Given the description of an element on the screen output the (x, y) to click on. 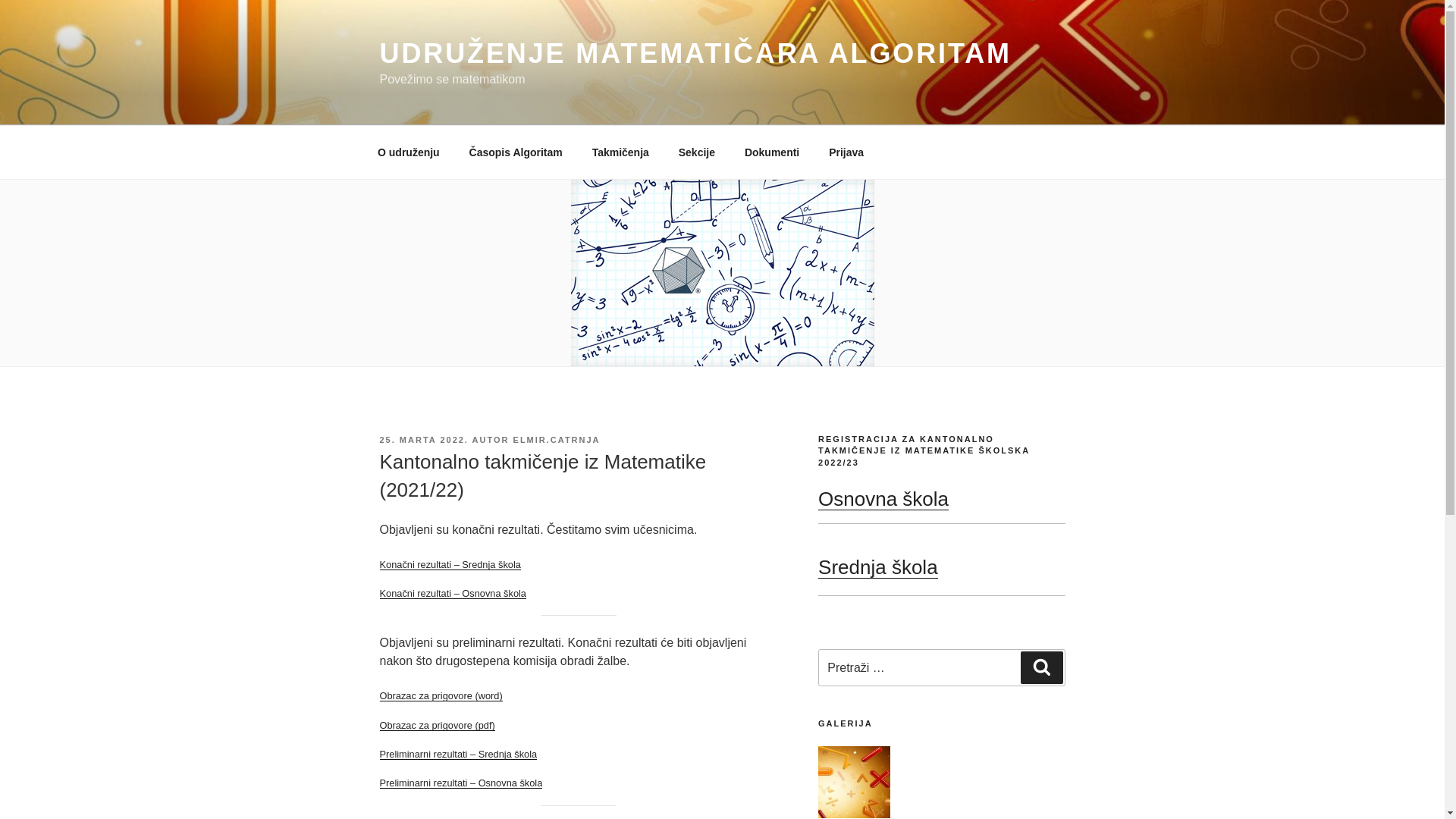
Sekcije Element type: text (696, 151)
Prijava Element type: text (846, 151)
Obrazac za prigovore (pdf) Element type: text (436, 725)
Dokumenti Element type: text (771, 151)
Obrazac za prigovore (word) Element type: text (440, 695)
25. MARTA 2022. Element type: text (423, 439)
ELMIR.CATRNJA Element type: text (556, 439)
